Given the description of an element on the screen output the (x, y) to click on. 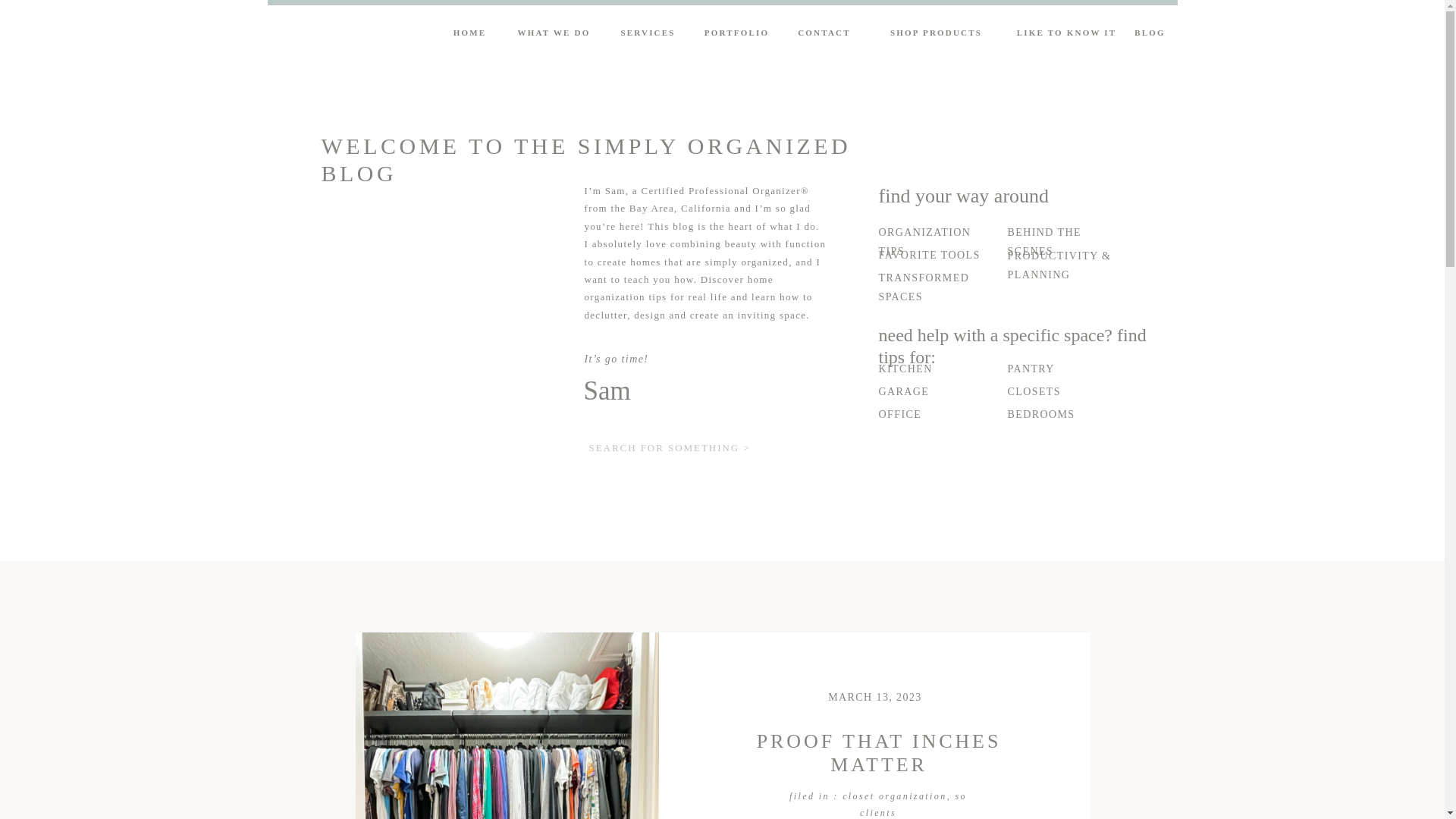
PROOF THAT INCHES MATTER (879, 752)
find your way around (994, 198)
so clients (913, 804)
BEHIND THE SCENES (1066, 230)
need help with a specific space? find tips for: (1015, 338)
BEDROOMS (1075, 414)
closet organization (895, 796)
OFFICE (934, 412)
BLOG (1149, 35)
SERVICES (648, 35)
